Given the description of an element on the screen output the (x, y) to click on. 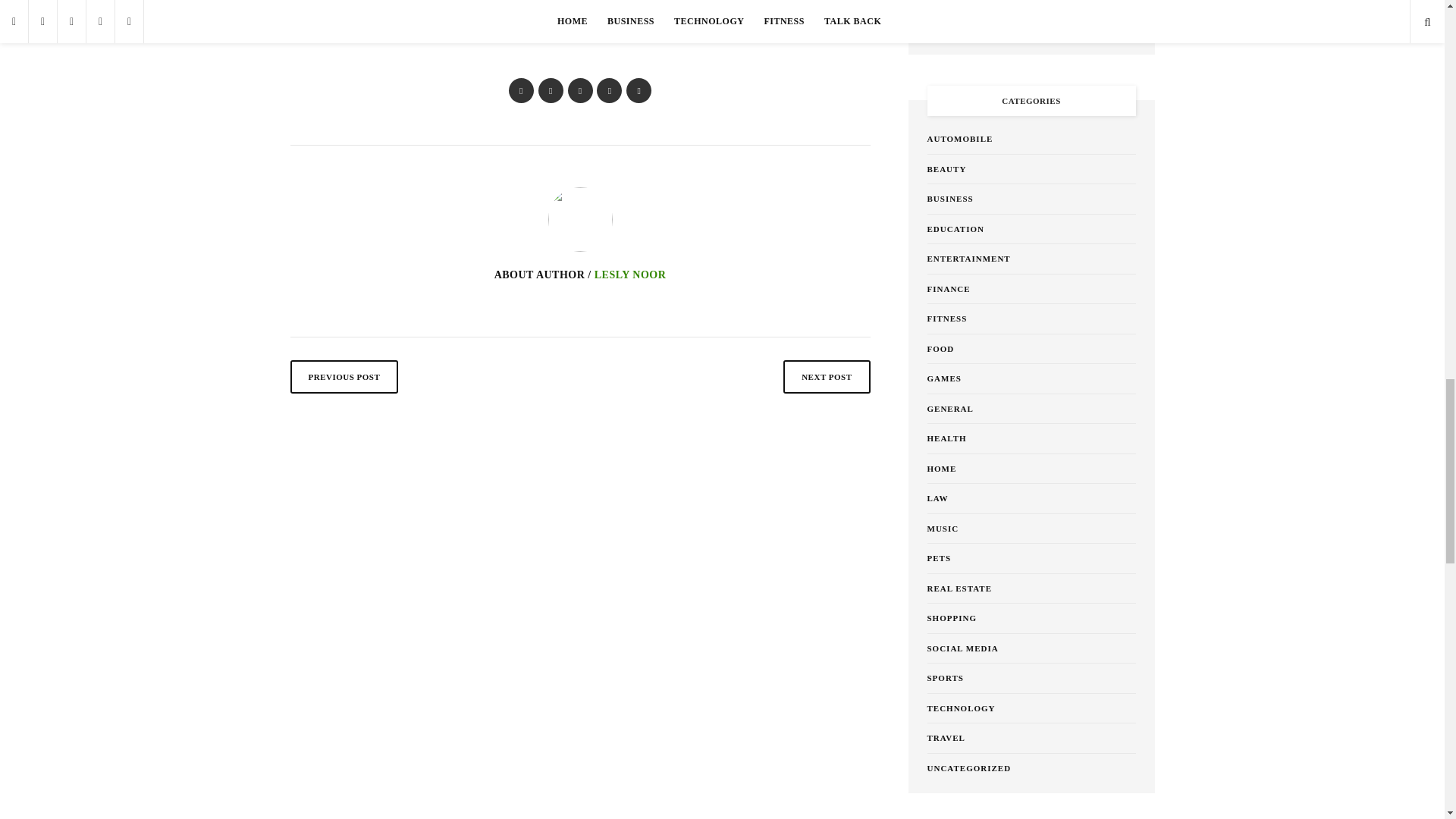
PREVIOUS POST (343, 376)
NEXT POST (826, 376)
LESLY NOOR (630, 274)
Posts by Lesly Noor (630, 274)
